Given the description of an element on the screen output the (x, y) to click on. 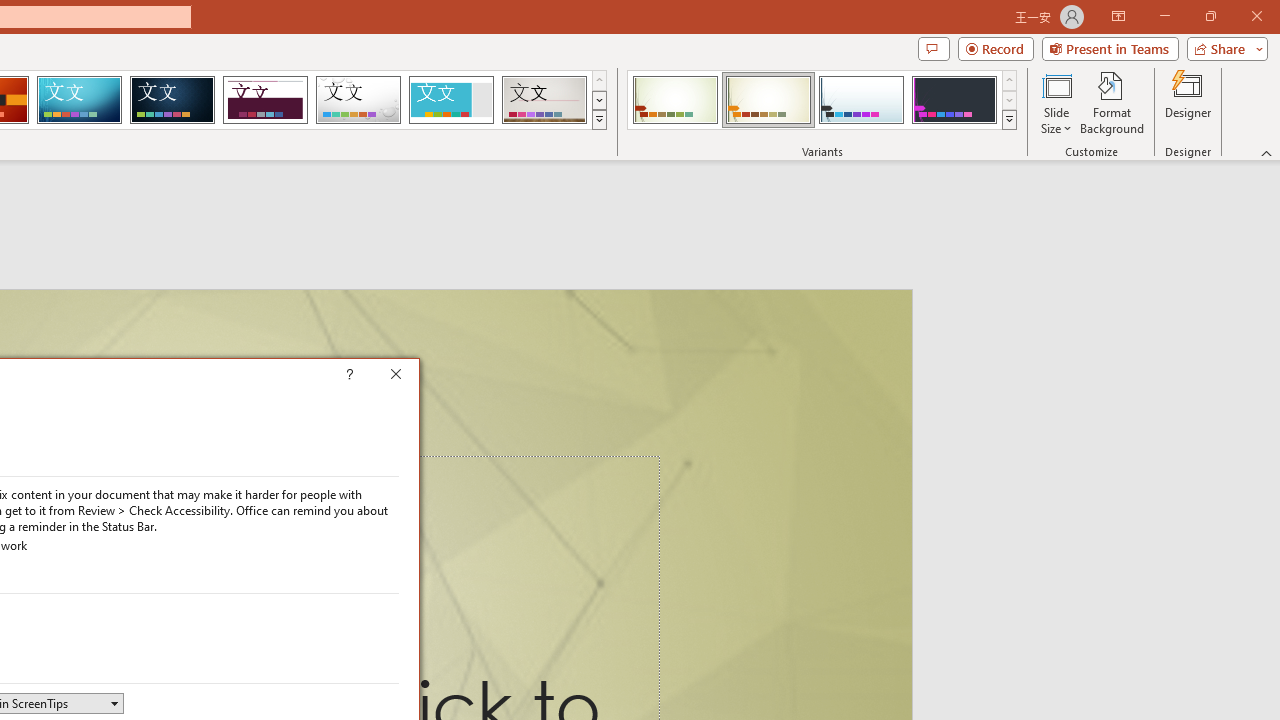
Circuit Loading Preview... (79, 100)
Wisp Variant 3 (861, 100)
Gallery Loading Preview... (544, 100)
